Given the description of an element on the screen output the (x, y) to click on. 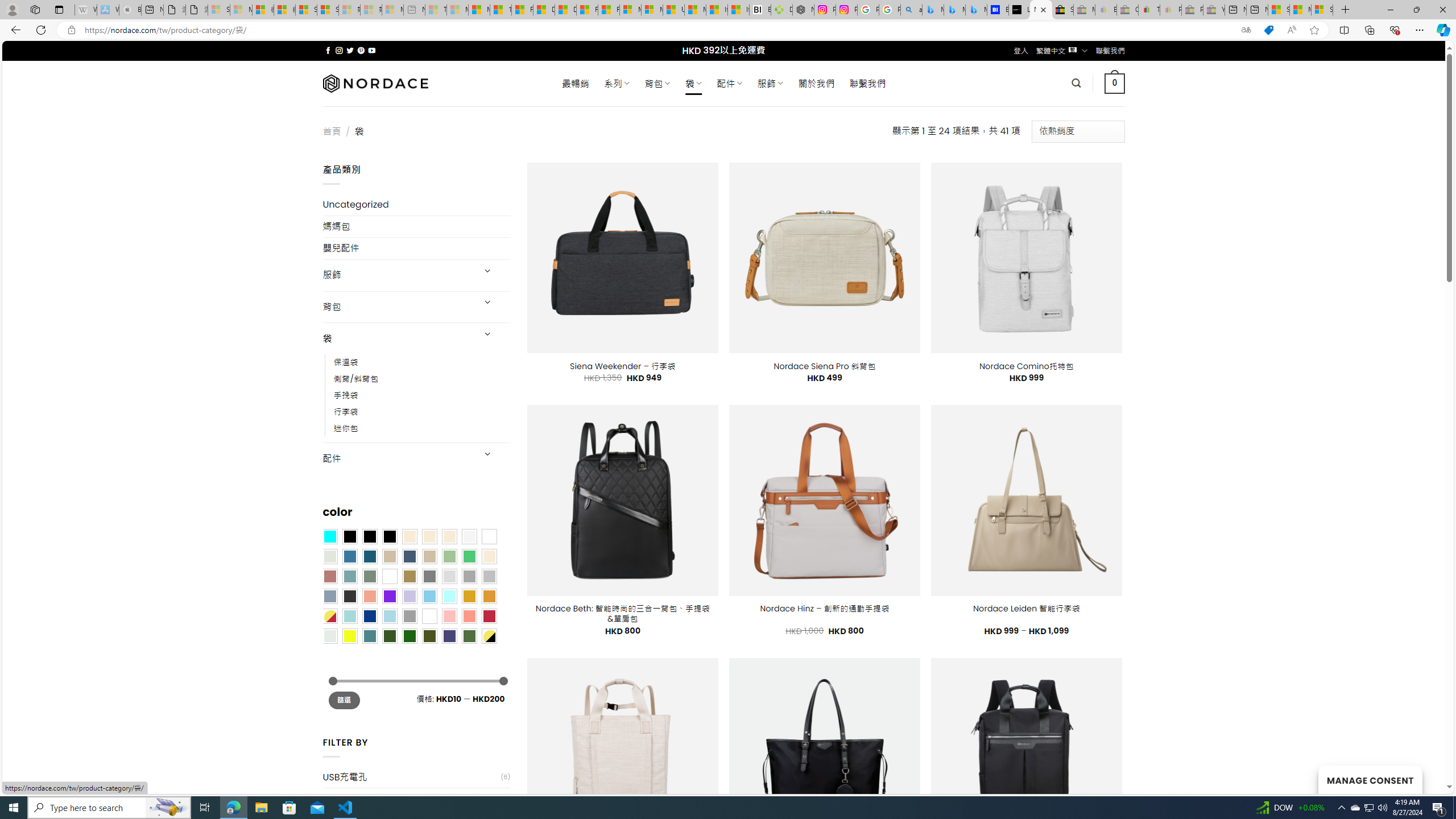
Food and Drink - MSN (522, 9)
Follow on Facebook (327, 50)
